Given the description of an element on the screen output the (x, y) to click on. 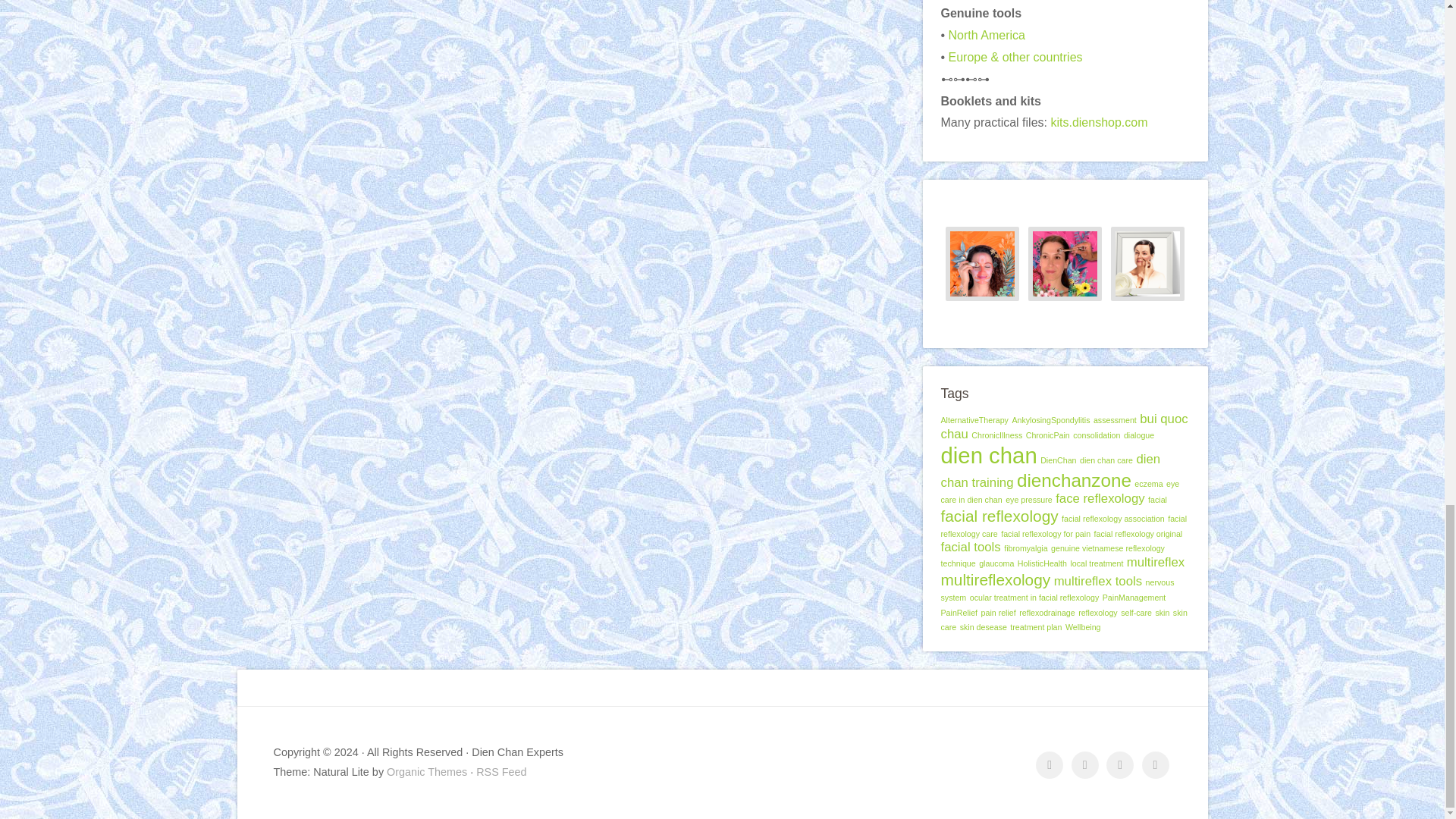
bui quoc chau (1064, 426)
Dien Chan videos (1048, 764)
assessment (1115, 420)
kits.dienshop.com (1098, 122)
AnkylosingSpondylitis (1050, 420)
North America (987, 34)
AlternativeTherapy (973, 420)
